Given the description of an element on the screen output the (x, y) to click on. 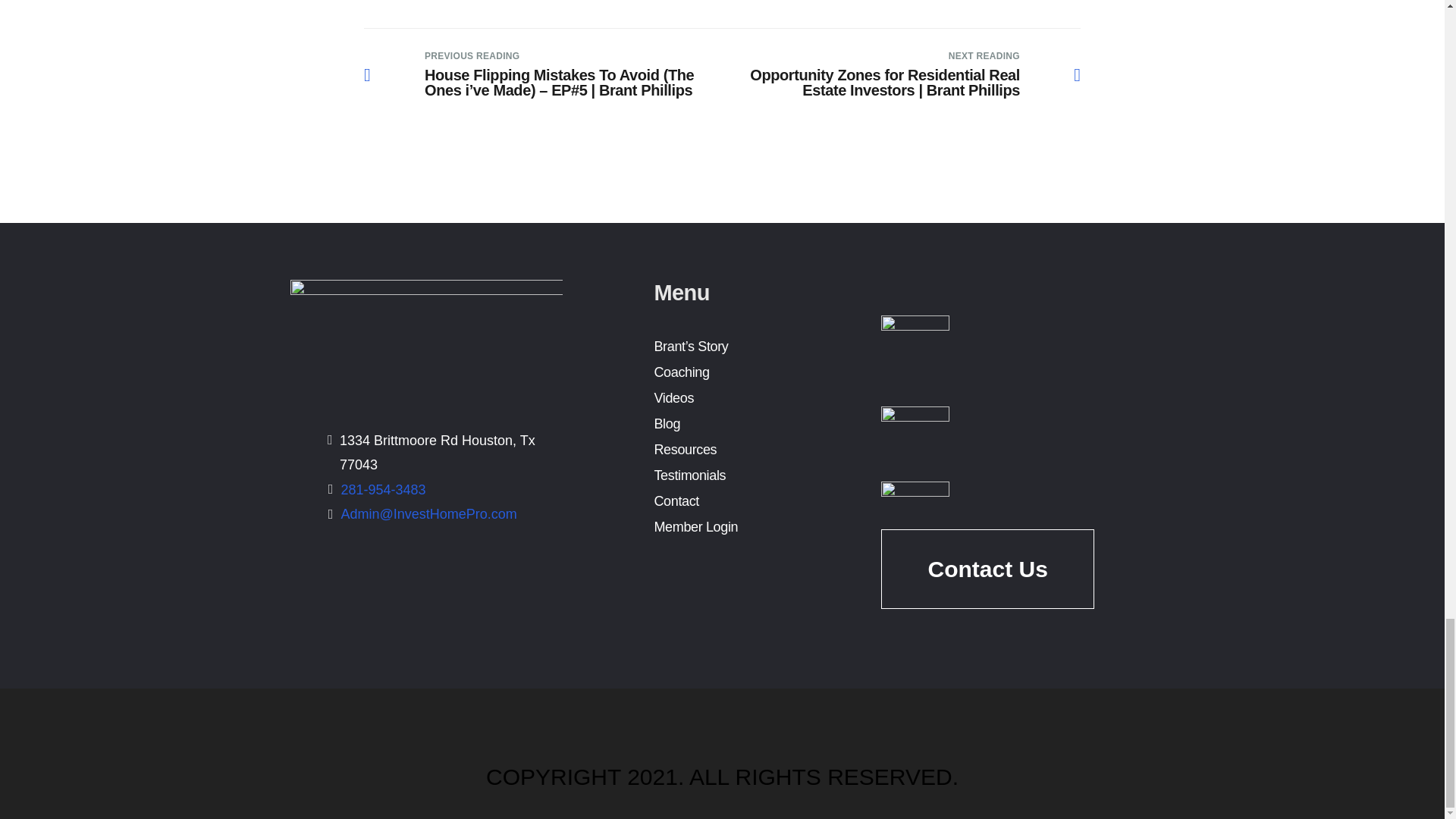
Contact Us (986, 560)
Videos (673, 397)
281-954-3483 (383, 489)
Member Login (695, 526)
Blog (666, 423)
Contact Us (986, 569)
Coaching (681, 372)
Resources (684, 449)
Contact (675, 500)
Testimonials (689, 475)
